Given the description of an element on the screen output the (x, y) to click on. 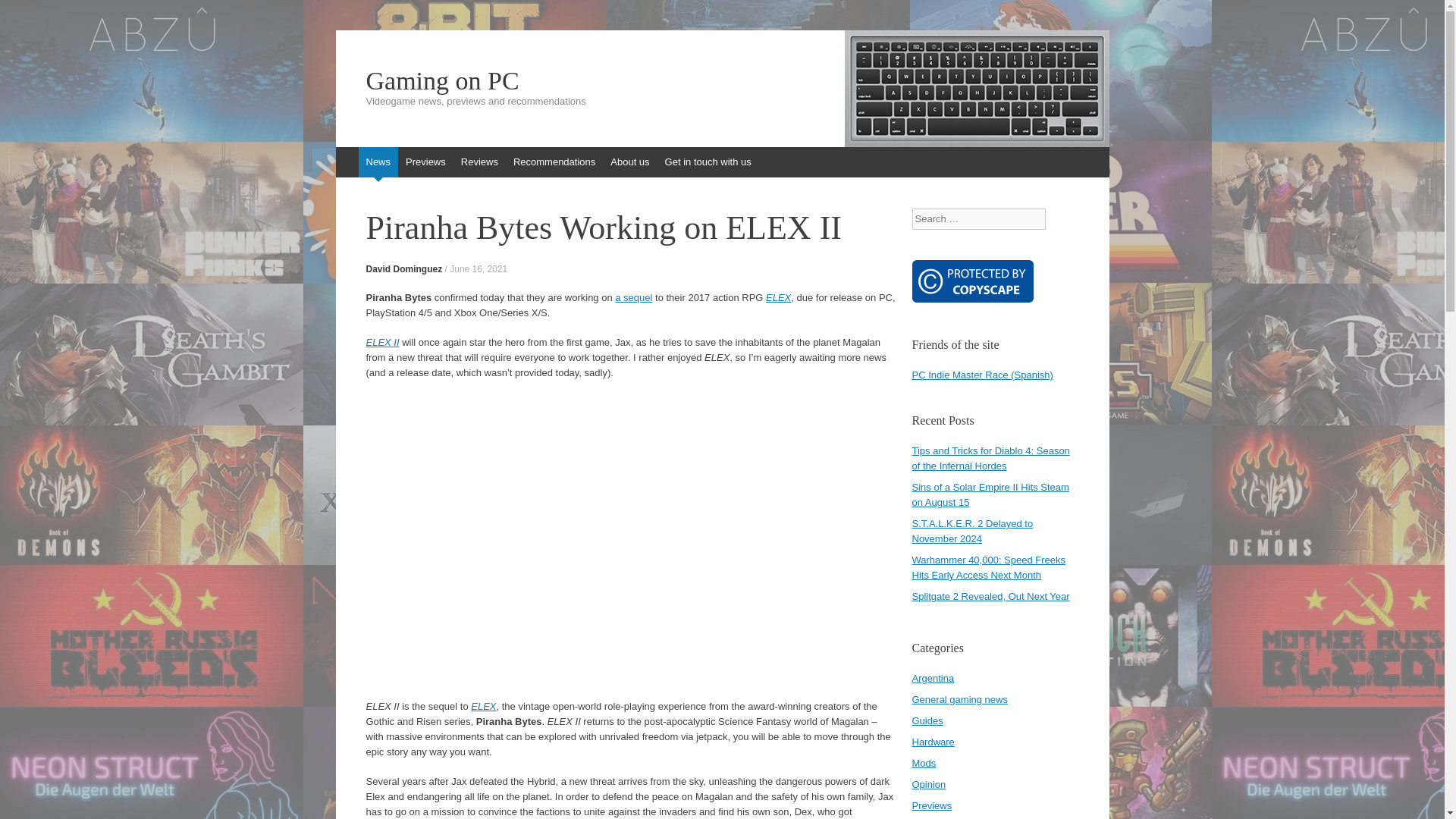
Reviews (478, 162)
Skip to content (342, 154)
About us (629, 162)
Protected by Copyscape - Do not copy content from this page. (971, 281)
June 16, 2021 (477, 268)
Gaming on PC (721, 80)
Recommendations (553, 162)
a sequel (633, 296)
News (377, 162)
Previews (424, 162)
